Given the description of an element on the screen output the (x, y) to click on. 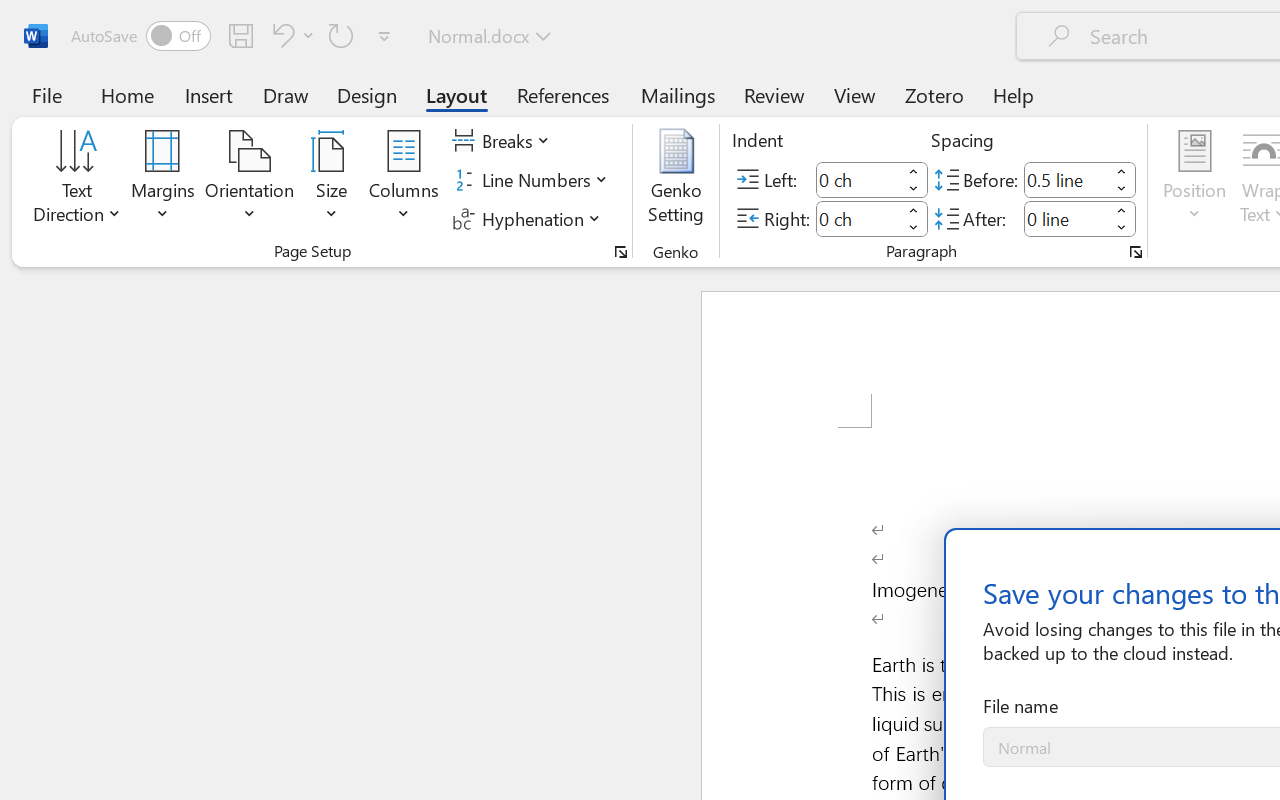
Indent Left (858, 179)
Breaks (504, 141)
Paragraph... (1135, 252)
Position (1194, 179)
Line Numbers (532, 179)
Indent Right (858, 218)
